Given the description of an element on the screen output the (x, y) to click on. 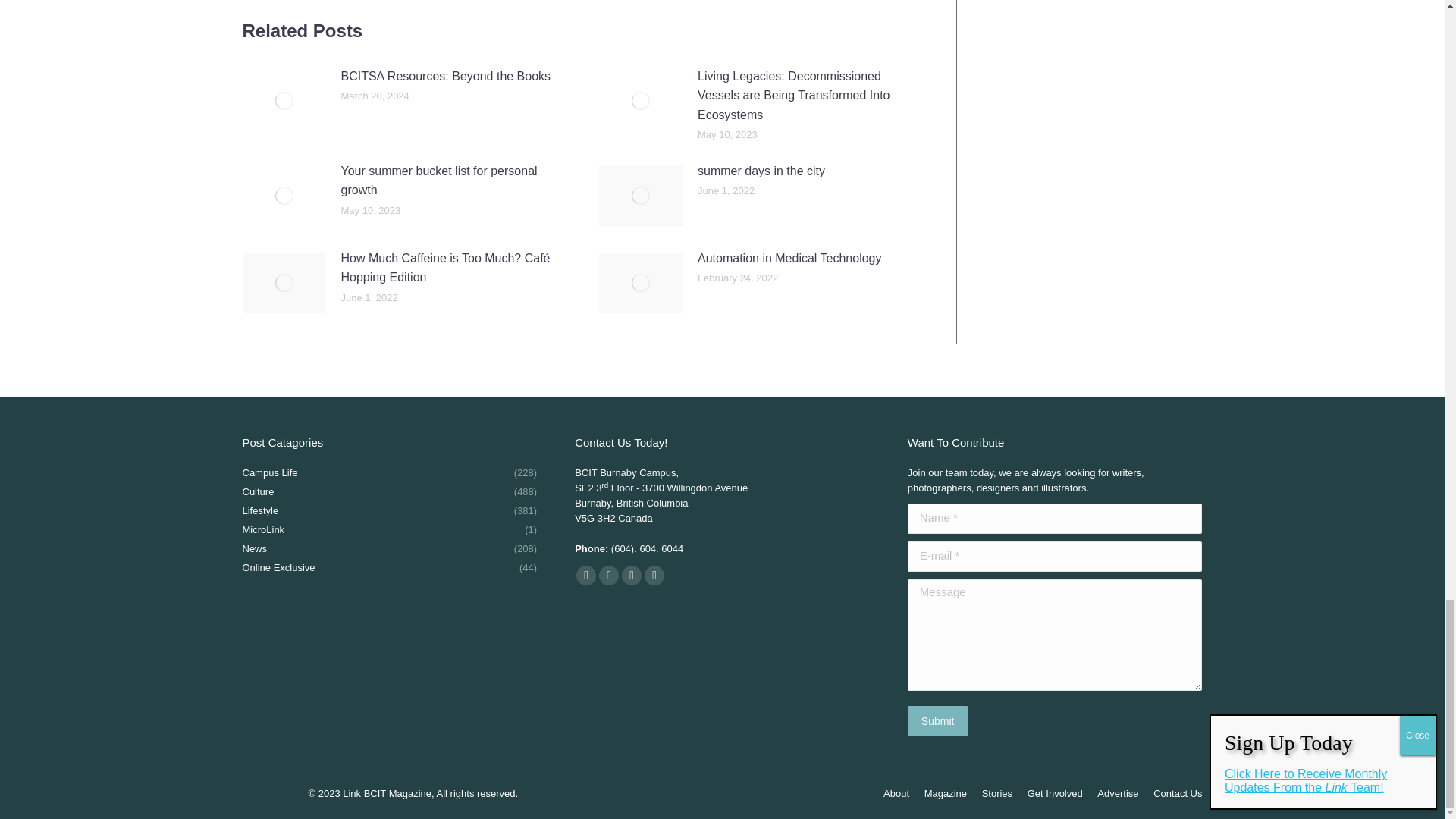
submit (1005, 722)
